Given the description of an element on the screen output the (x, y) to click on. 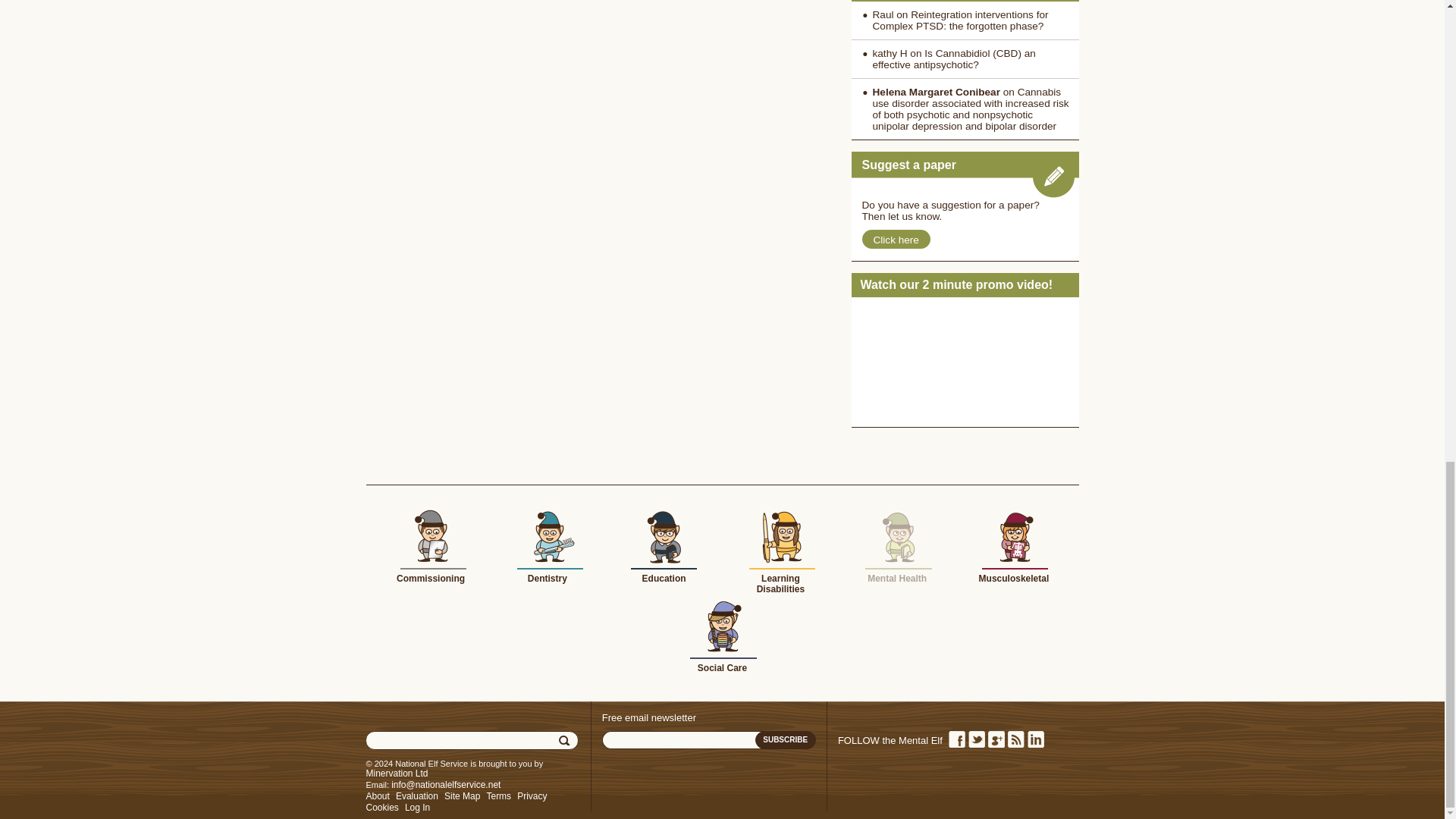
Subscribe (785, 740)
Search (565, 741)
Follow us on Twitter (976, 739)
Find us on Facebook (955, 739)
